Given the description of an element on the screen output the (x, y) to click on. 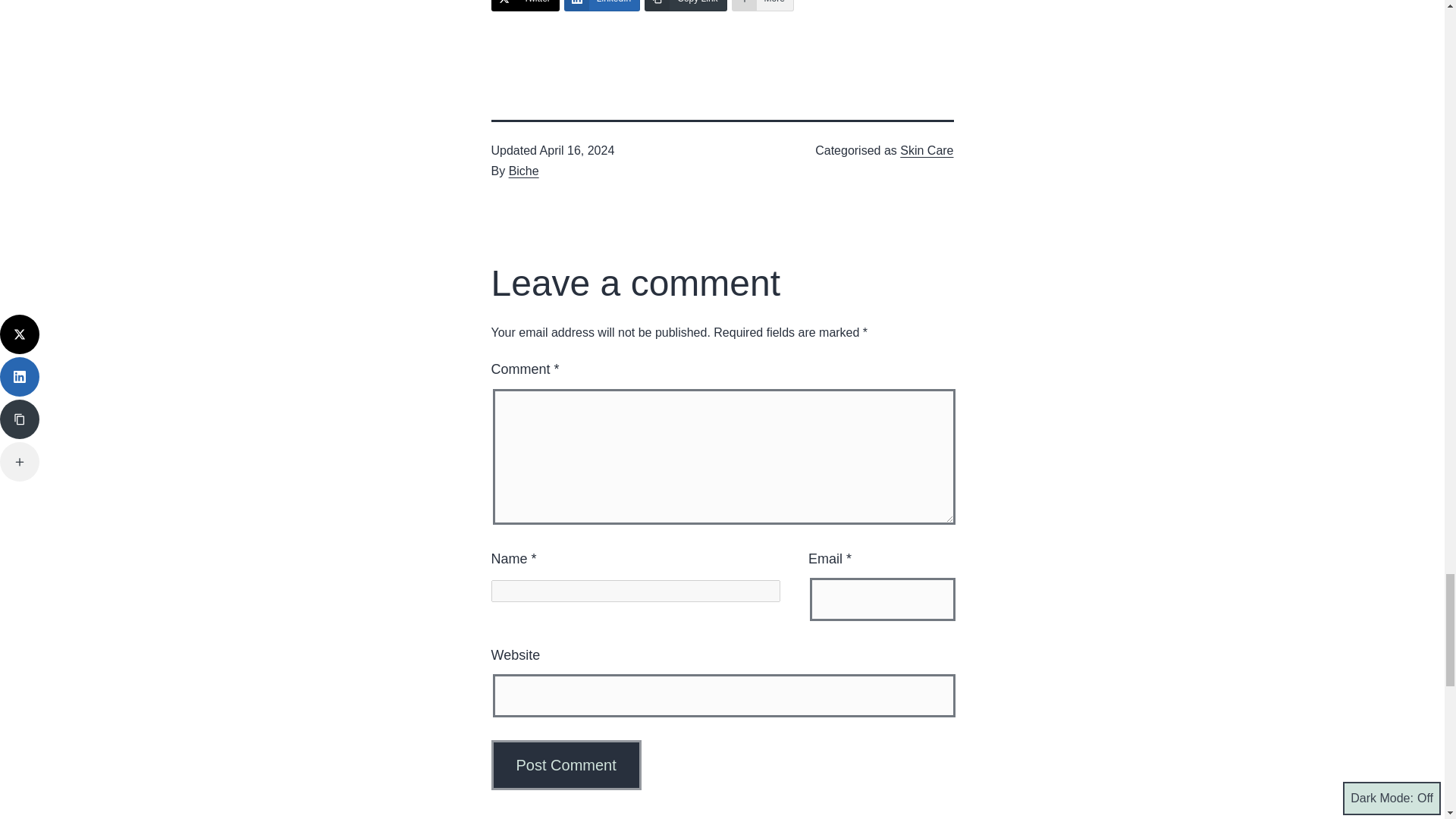
Post Comment (567, 765)
